Given the description of an element on the screen output the (x, y) to click on. 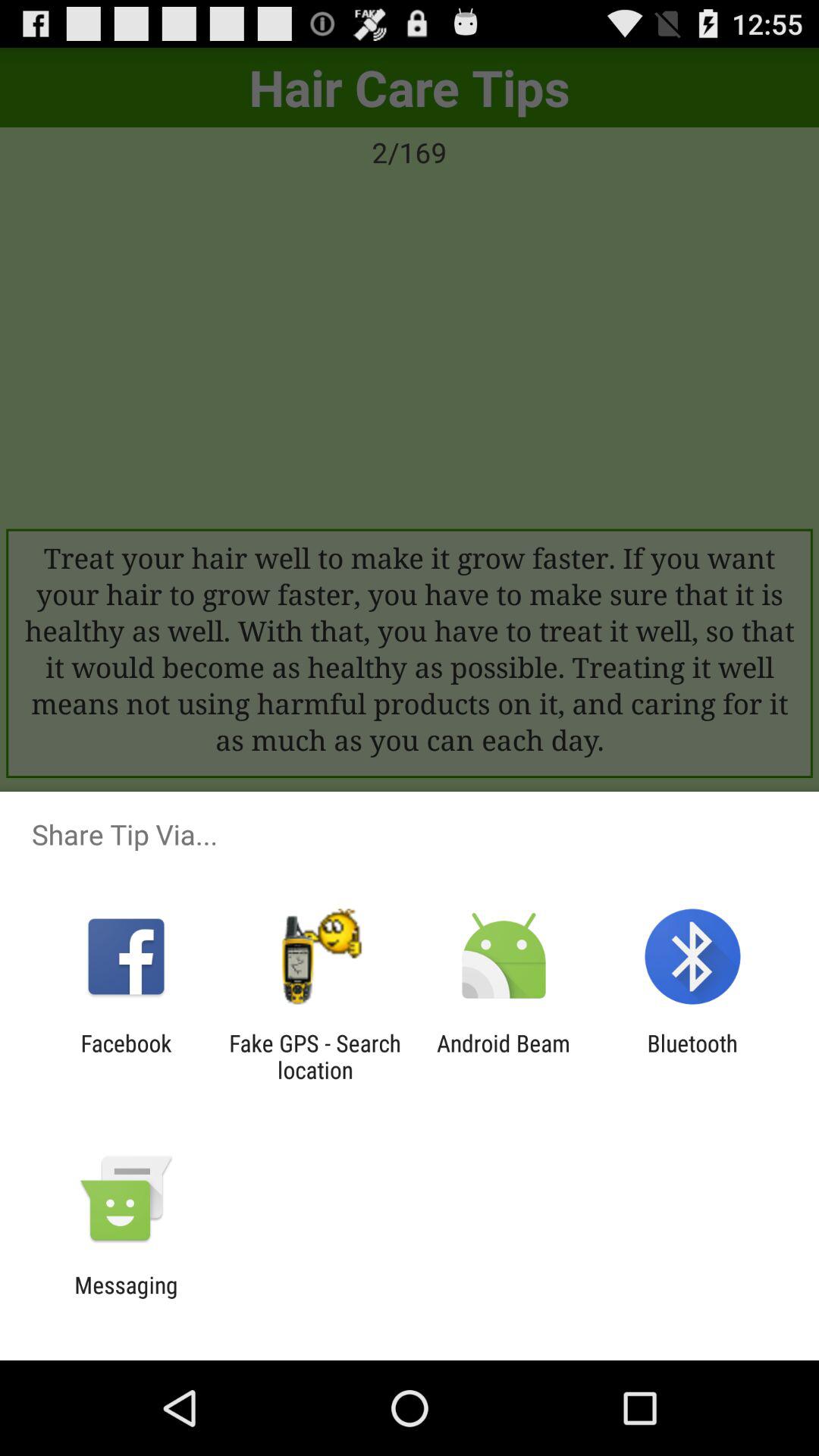
tap icon to the left of fake gps search (125, 1056)
